Given the description of an element on the screen output the (x, y) to click on. 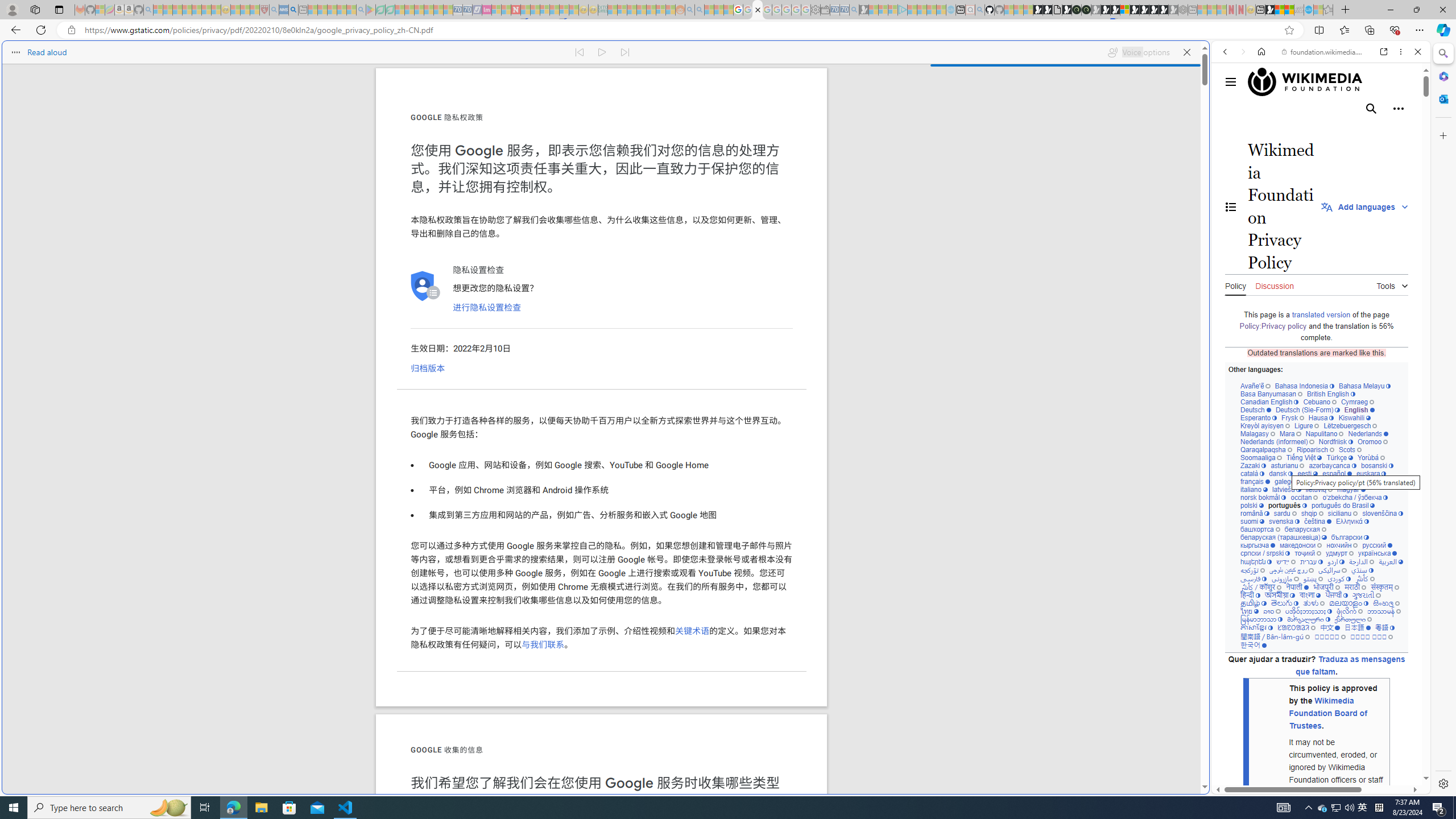
Search Filter, Search Tools (1350, 129)
bosanski (1376, 465)
Personal tools (1398, 108)
Trusted Community Engagement and Contributions | Guidelines (525, 9)
Deutsch (Sie-Form) (1307, 409)
Zazaki (1253, 465)
shqip (1311, 513)
Utah sues federal government - Search - Sleeping (699, 9)
